Given the description of an element on the screen output the (x, y) to click on. 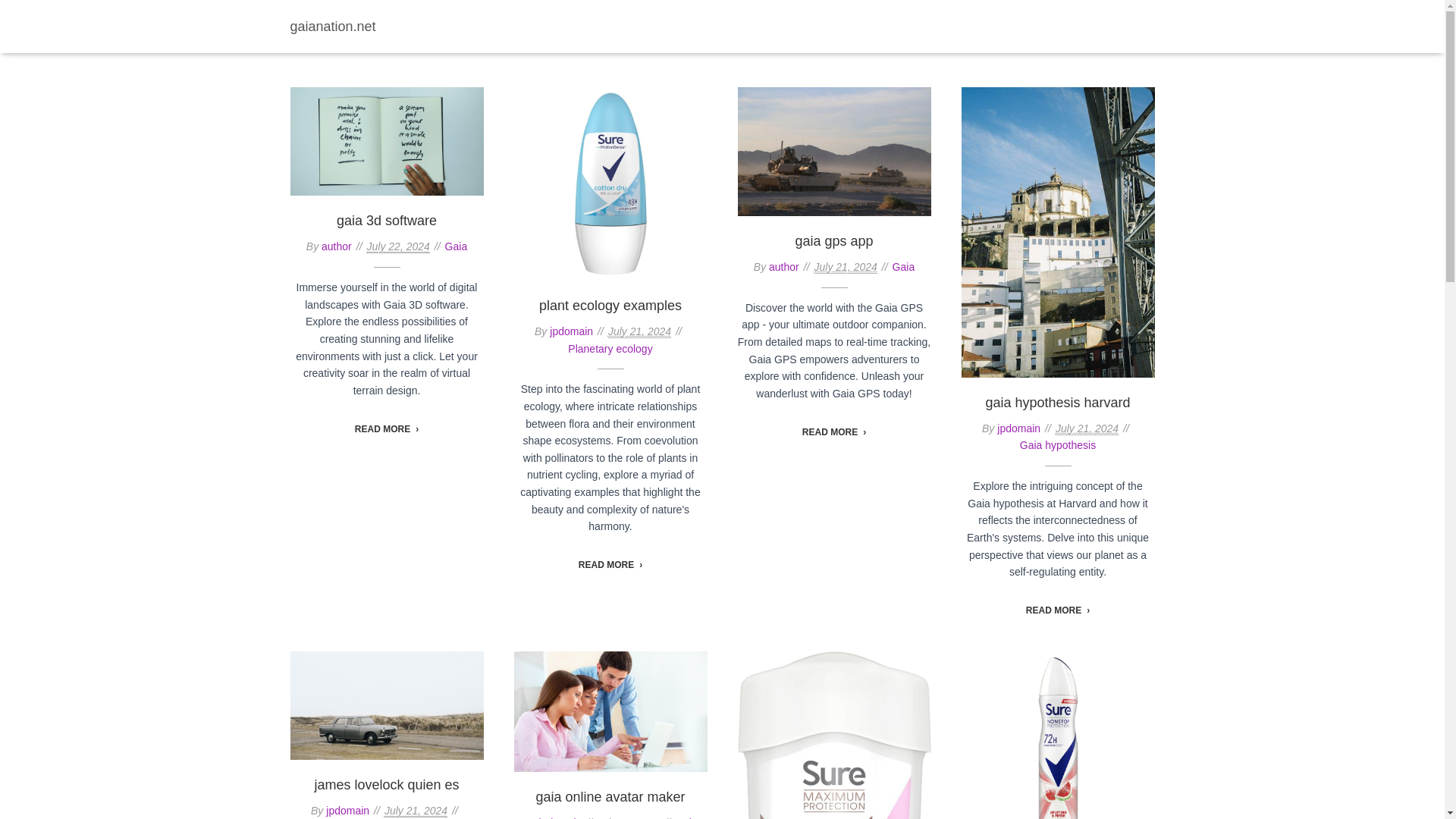
Sunday, July, 2024, 11:29 pm (639, 331)
plant ecology examples (609, 305)
gaia gps app (833, 240)
plantecologyexamplesjpg gaianationnet (610, 183)
View all items filed under Planetary ecology (1001, 21)
author (783, 266)
jpdomain (347, 810)
READ MORE (834, 431)
Planetary ecology (609, 348)
Gaia hypothesis (1058, 444)
james lovelock quien es (386, 784)
Gaia (713, 21)
View all items filed under Uncategorized (1106, 21)
author (336, 246)
View all items filed under James Lovelock (892, 21)
